Given the description of an element on the screen output the (x, y) to click on. 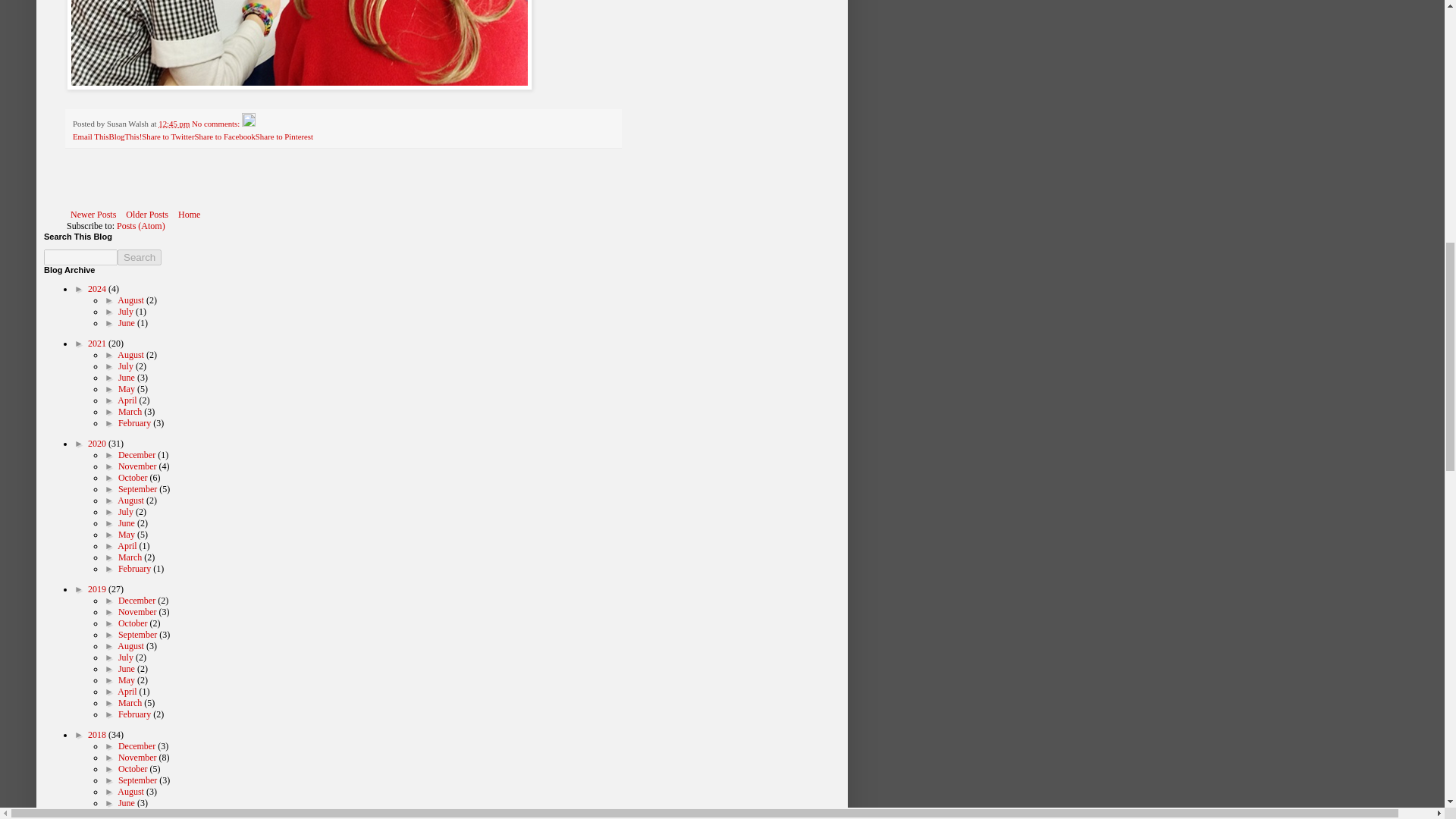
Share to Facebook (223, 135)
BlogThis! (124, 135)
Email This (89, 135)
Older Posts (146, 214)
June (126, 322)
July (126, 311)
2021 (97, 343)
Share to Pinterest (284, 135)
No comments: (216, 122)
Home (188, 214)
